Given the description of an element on the screen output the (x, y) to click on. 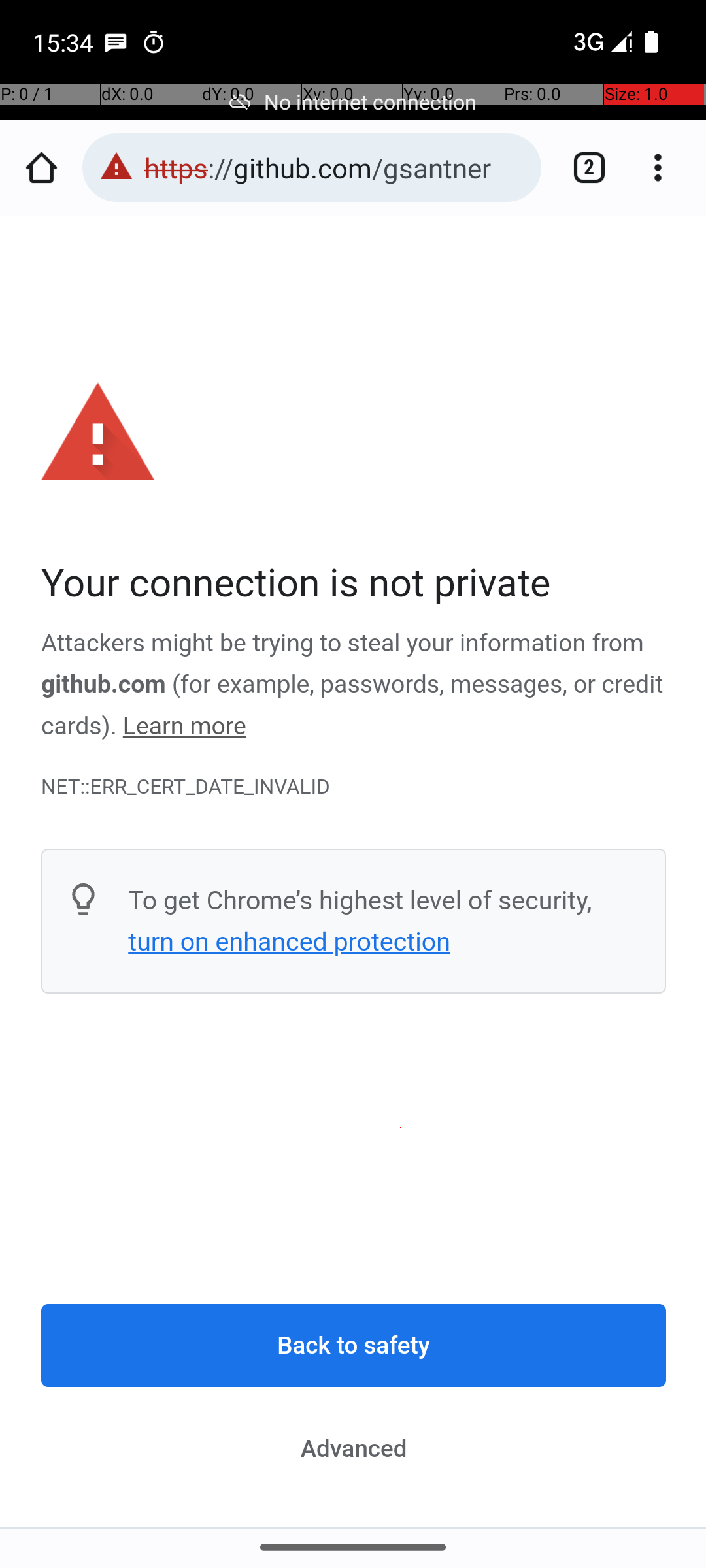
https://github.com/gsantner Element type: android.widget.EditText (335, 167)
